Given the description of an element on the screen output the (x, y) to click on. 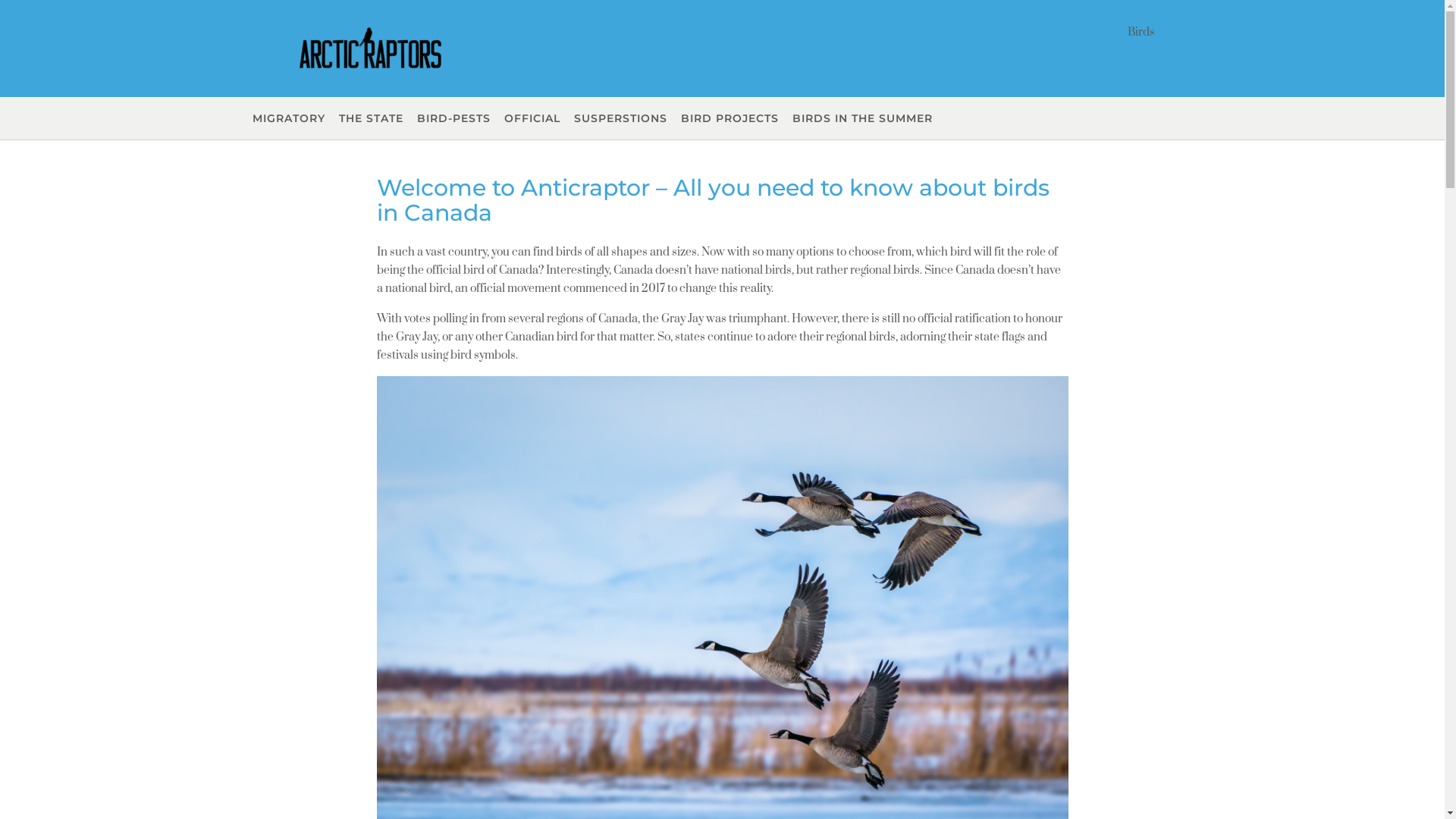
MIGRATORY Element type: text (288, 118)
THE STATE Element type: text (370, 118)
BIRDS IN THE SUMMER Element type: text (862, 118)
BIRD PROJECTS Element type: text (729, 118)
arcticraptors.ca -  Element type: hover (369, 49)
SUSPERSTIONS Element type: text (620, 118)
BIRD-PESTS Element type: text (453, 118)
OFFICIAL Element type: text (532, 118)
